Given the description of an element on the screen output the (x, y) to click on. 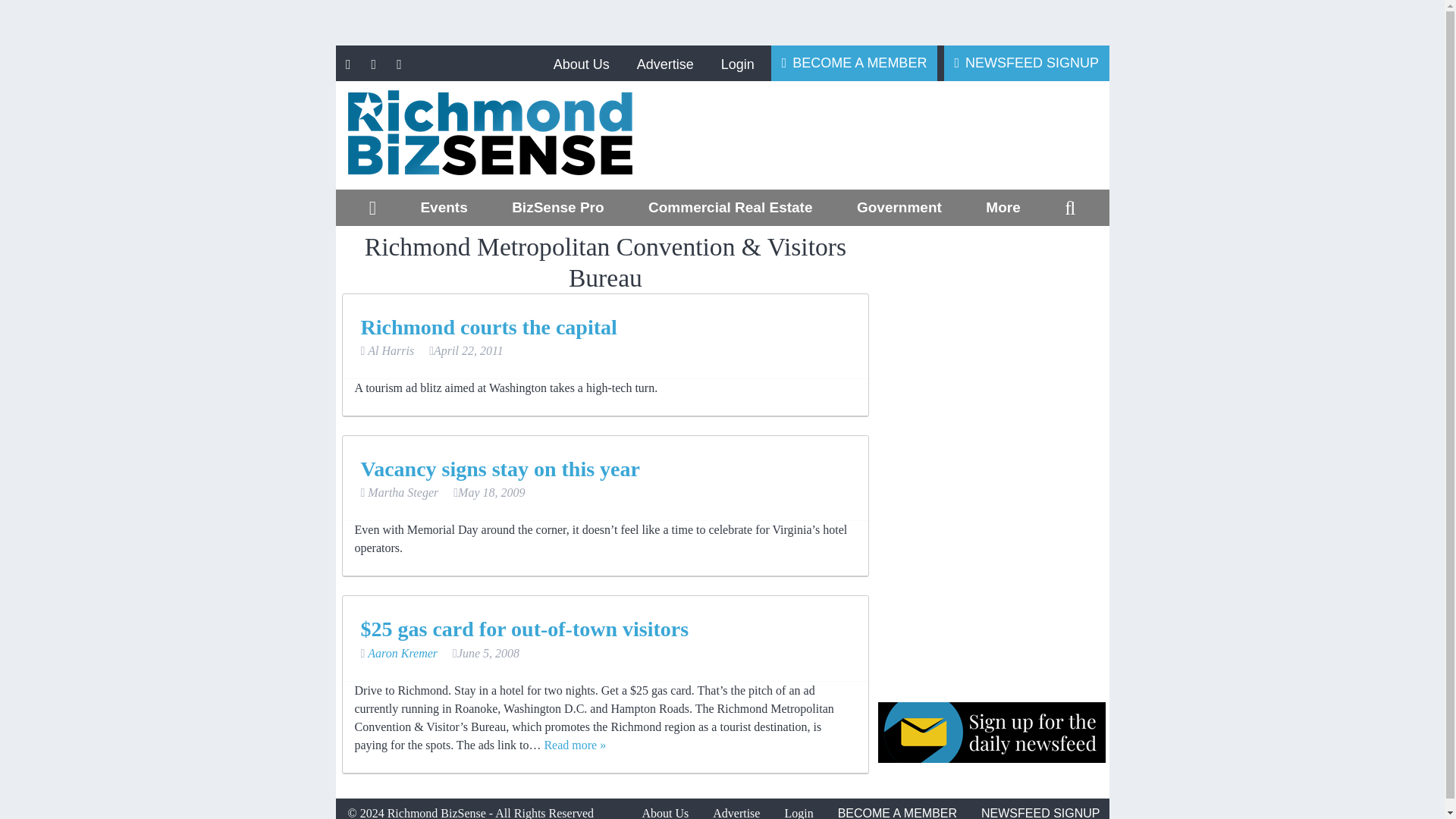
NEWSFEED SIGNUP (1026, 62)
Vacancy signs stay on this year (500, 468)
BizSense Pro (557, 207)
BECOME A MEMBER (854, 62)
About Us (581, 63)
More (1002, 207)
Events (444, 207)
3rd party ad content (896, 135)
Commercial Real Estate (730, 207)
Richmond courts the capital (489, 327)
